Given the description of an element on the screen output the (x, y) to click on. 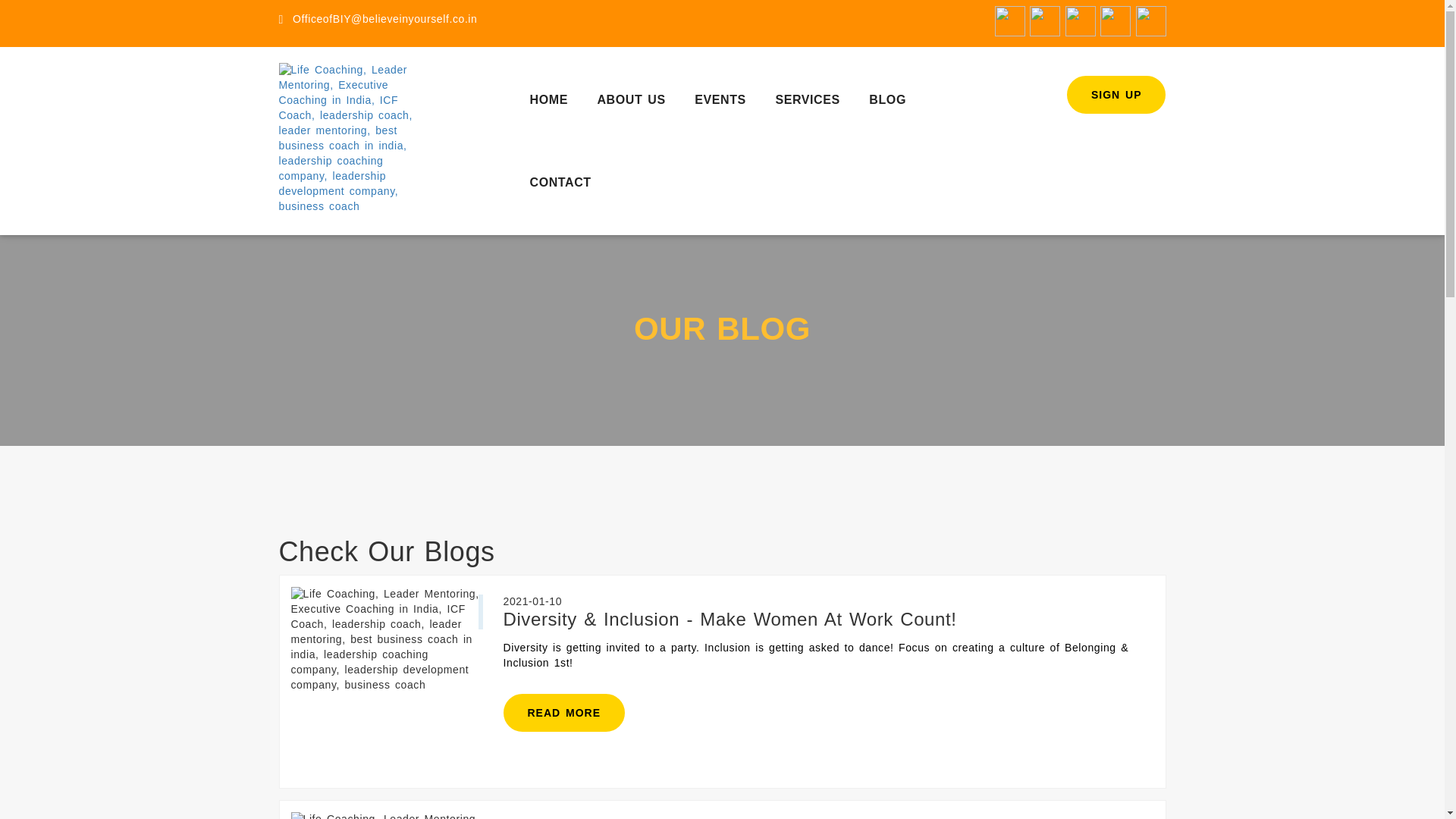
ABOUT US (630, 103)
CONTACT (560, 186)
SIGN UP (1116, 94)
SERVICES (807, 103)
